Given the description of an element on the screen output the (x, y) to click on. 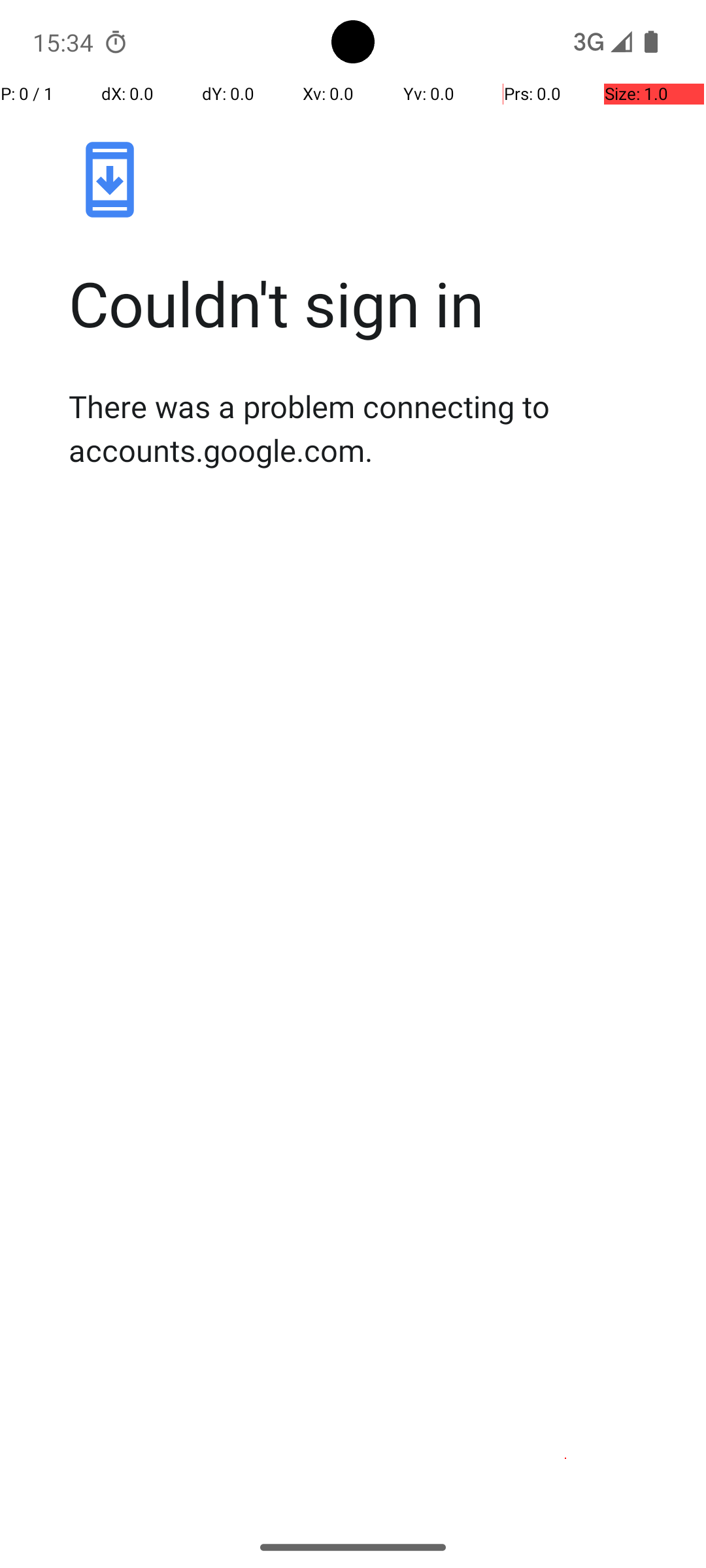
Couldn't sign in Element type: android.widget.TextView (366, 302)
There was a problem connecting to accounts.google.com. Element type: android.widget.TextView (366, 427)
